Given the description of an element on the screen output the (x, y) to click on. 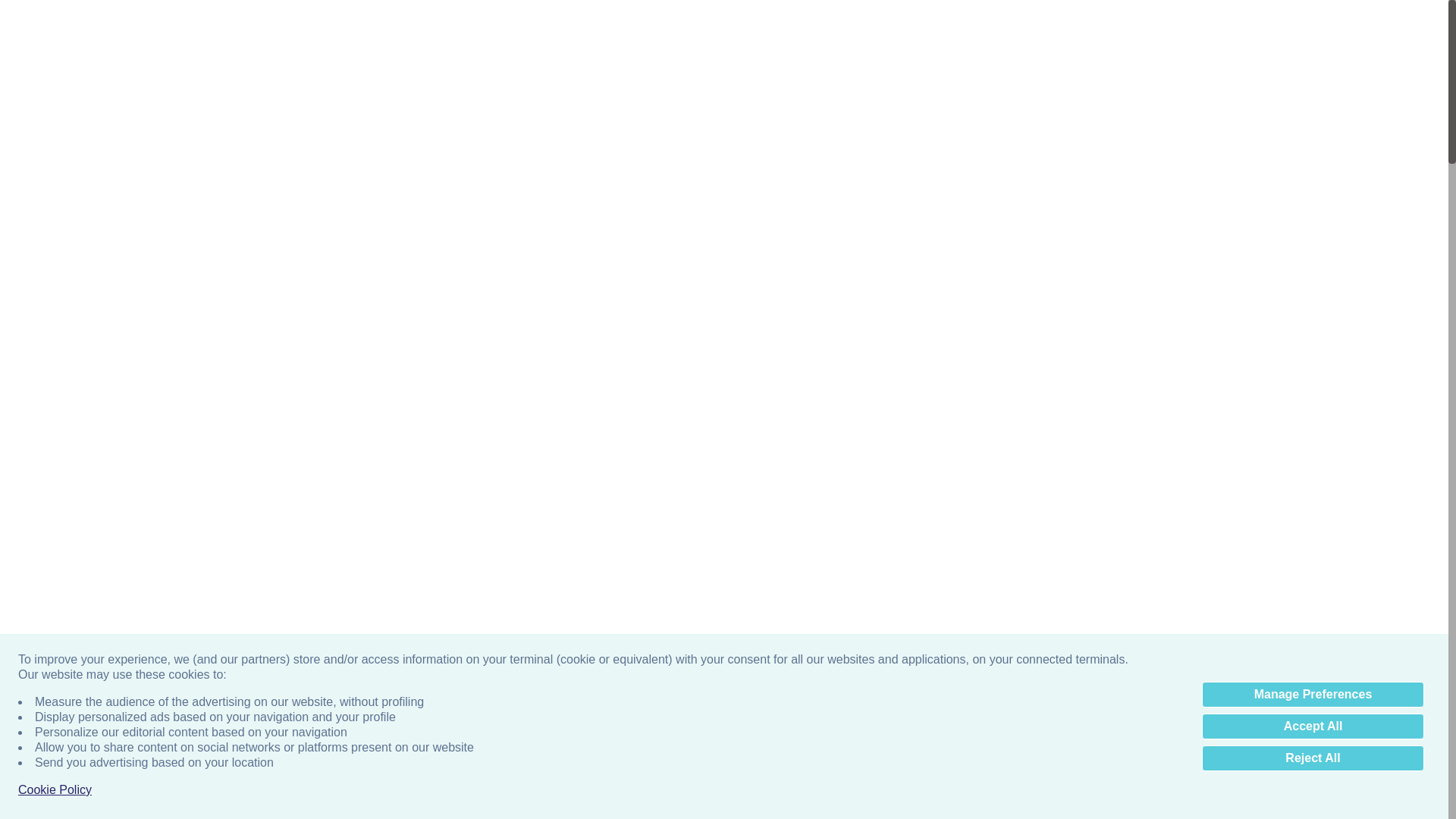
Reject All (1312, 758)
Manage Preferences (1312, 694)
Cookie Policy (54, 789)
Accept All (1312, 726)
